Given the description of an element on the screen output the (x, y) to click on. 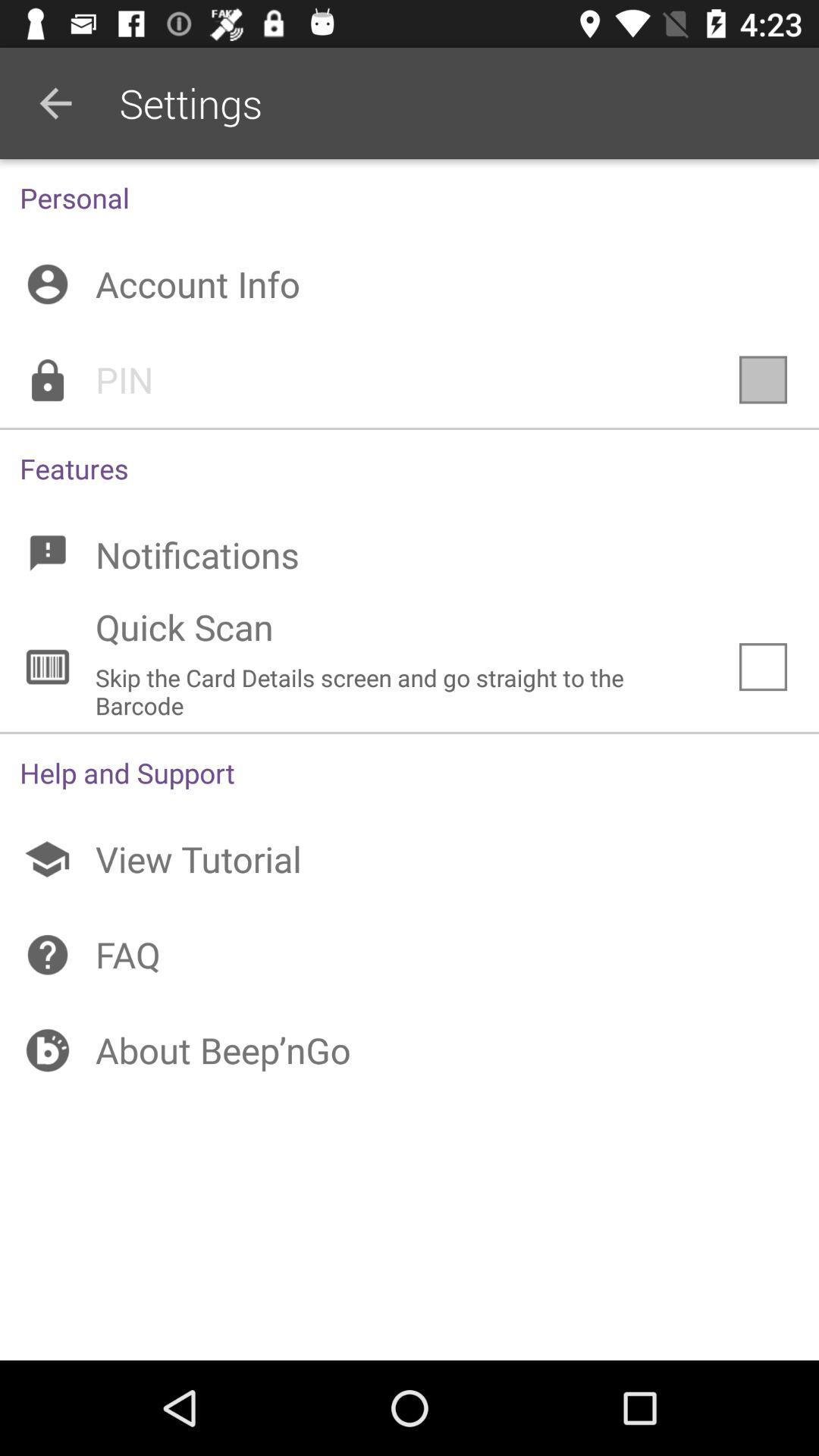
tap notifications (409, 554)
